Given the description of an element on the screen output the (x, y) to click on. 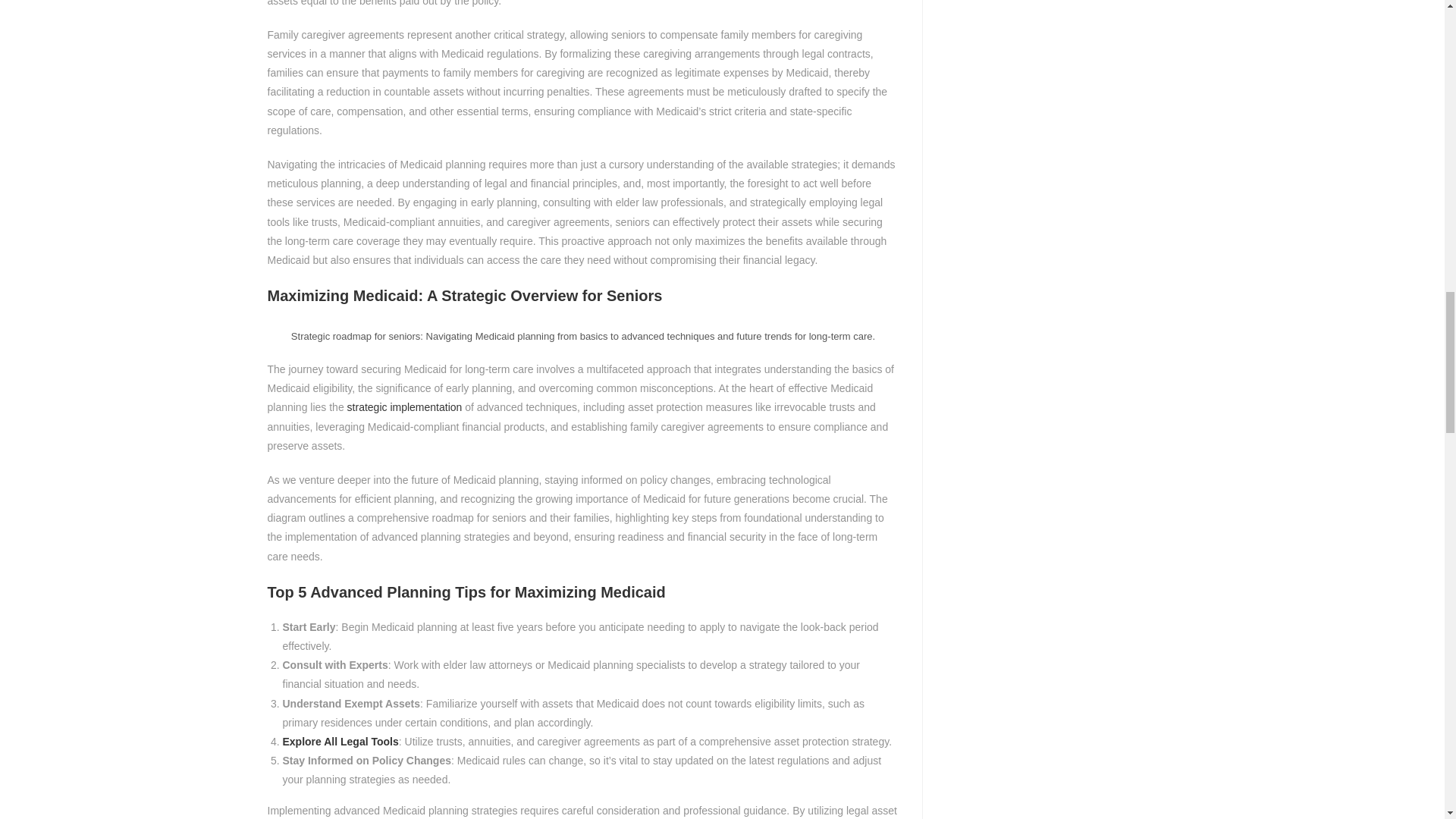
strategic implementation (405, 407)
Explore All Legal Tools (339, 741)
